Given the description of an element on the screen output the (x, y) to click on. 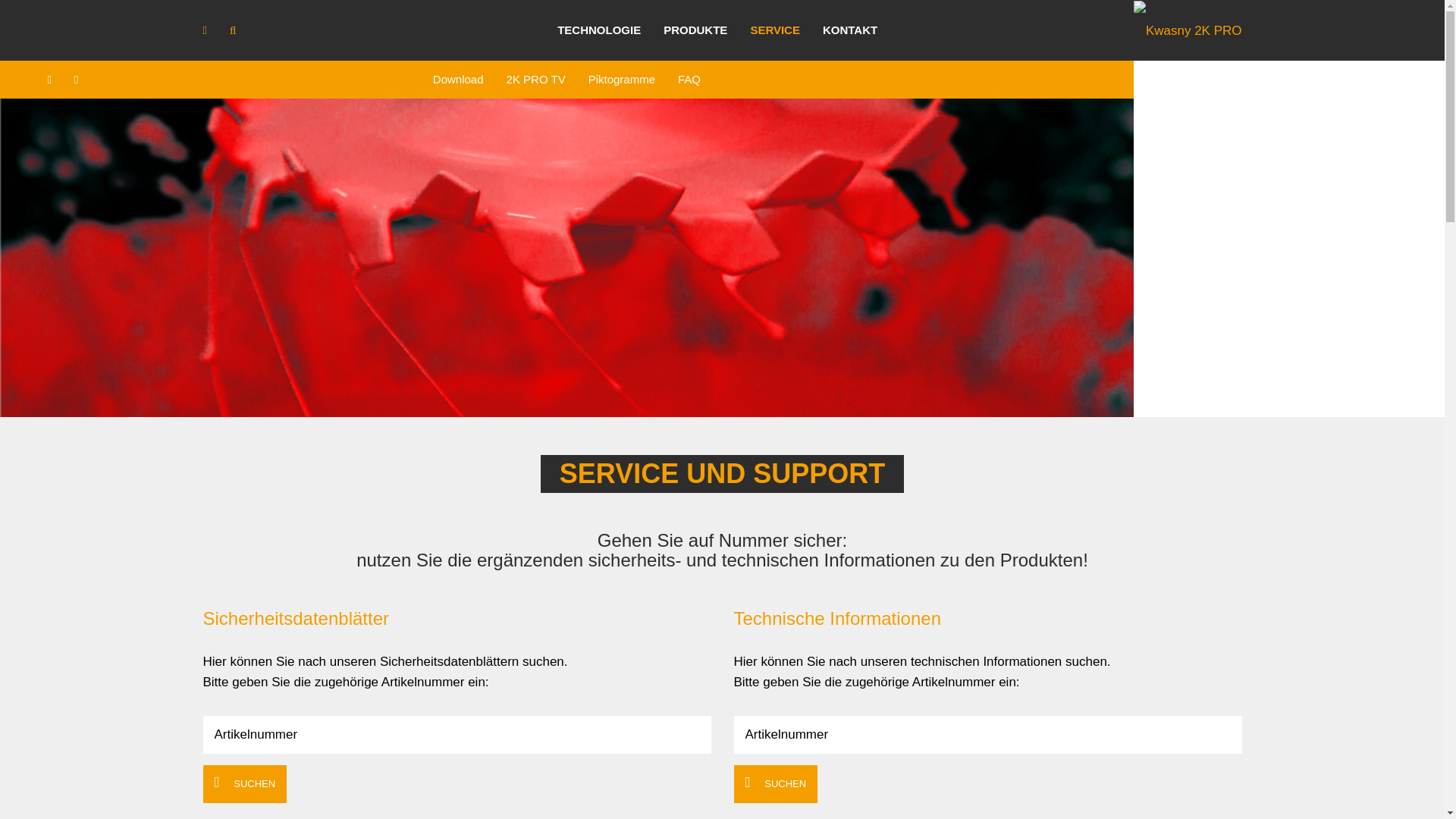
TECHNOLOGIE Element type: text (599, 30)
KONTAKT Element type: text (849, 30)
Seite drucken Element type: hover (75, 79)
SERVICE Element type: text (774, 30)
Piktogramme Element type: text (621, 79)
SUCHEN Element type: text (776, 784)
2K PRO TV Element type: text (536, 79)
SUCHEN Element type: text (245, 784)
Suchen Element type: hover (232, 30)
Download Element type: text (458, 79)
PRODUKTE Element type: text (695, 30)
FAQ Element type: text (689, 79)
